Given the description of an element on the screen output the (x, y) to click on. 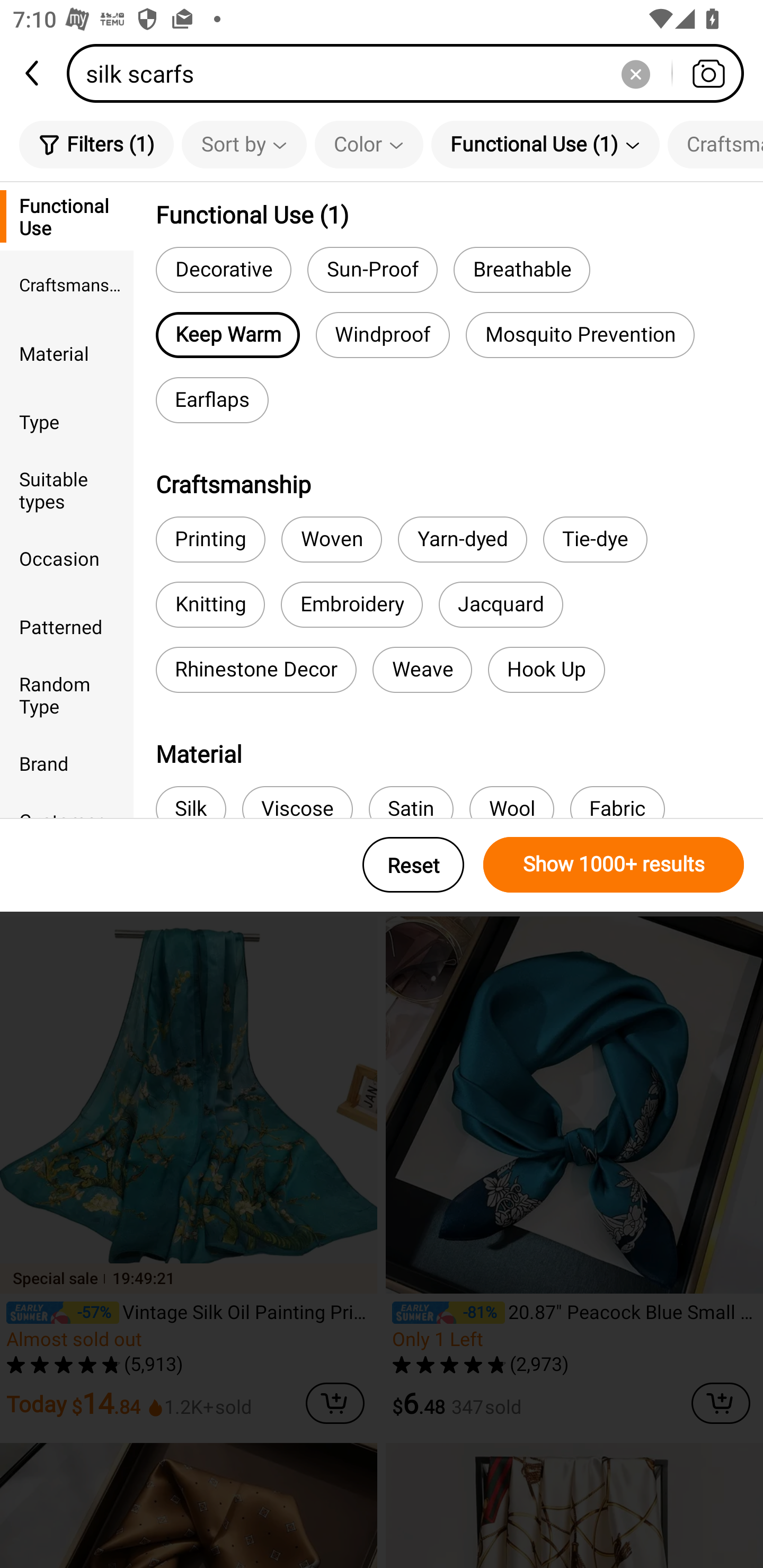
back (33, 72)
silk scarfs (411, 73)
Delete search history (635, 73)
Search by photo (708, 73)
Filters (1) (96, 143)
Sort by (243, 143)
Color (368, 143)
Functional Use (1) (545, 143)
Craftsmanship (715, 143)
Functional Use (66, 215)
Decorative (223, 269)
Sun-Proof (372, 269)
Breathable (521, 269)
Craftsmanship (66, 284)
Keep Warm (227, 334)
Windproof (382, 334)
Mosquito Prevention (579, 334)
Material (66, 352)
Earflaps (211, 400)
Type (66, 421)
Suitable types (66, 489)
Printing (210, 538)
Woven (331, 538)
Yarn-dyed (462, 538)
Tie-dye (595, 538)
Occasion (66, 557)
Knitting (209, 604)
Embroidery (351, 604)
Jacquard (500, 604)
Patterned (66, 626)
Rhinestone Decor (255, 669)
Weave (422, 669)
Hook Up (546, 669)
Random Type (66, 694)
Brand (66, 762)
Silk (190, 801)
Viscose (296, 801)
Satin (410, 801)
Wool (511, 801)
Fabric (617, 801)
Reset (412, 864)
Show 1000+ results (612, 864)
